Given the description of an element on the screen output the (x, y) to click on. 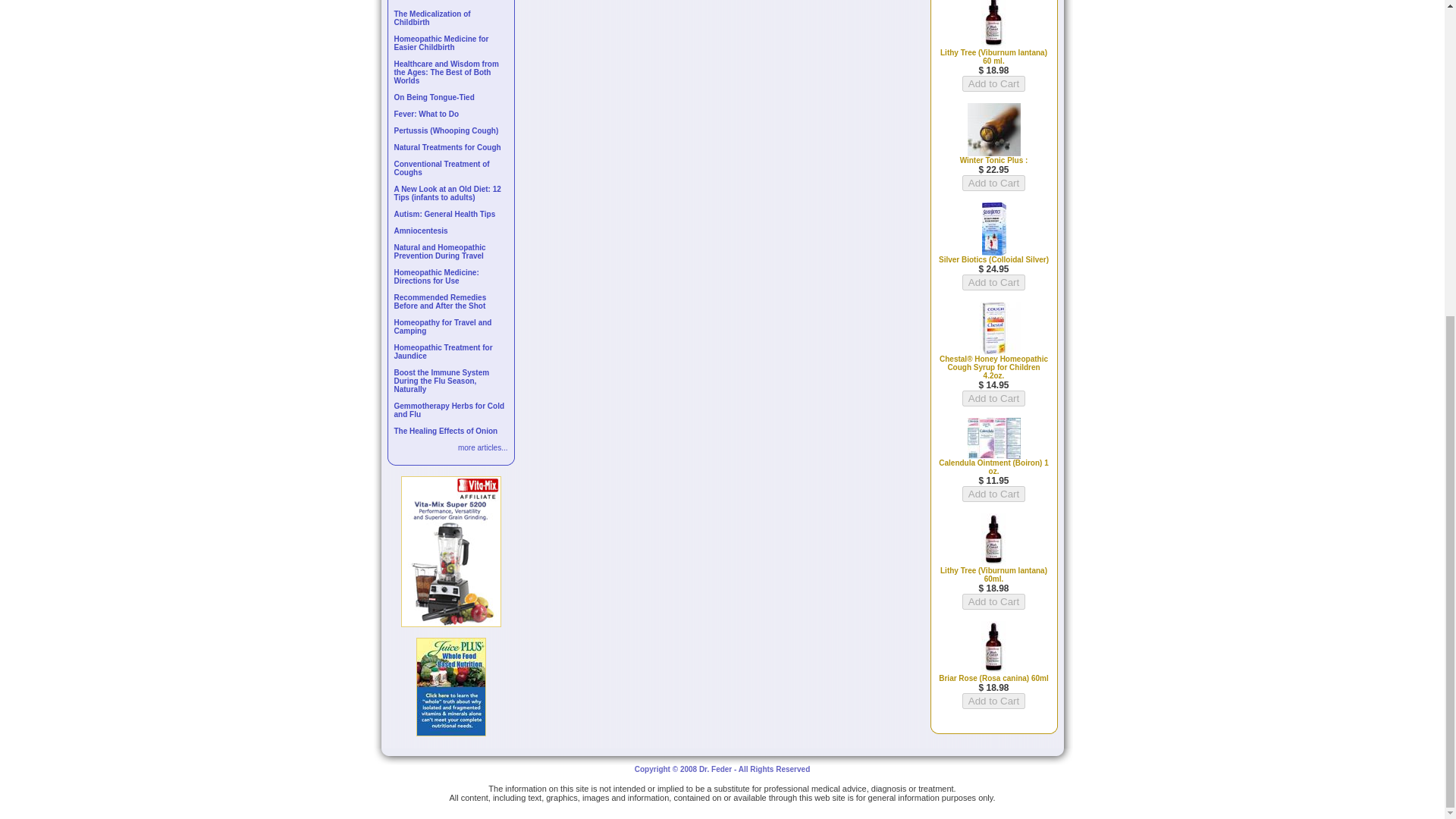
Gemmotherapy Herbs for Cold and Flu (449, 410)
Autism: General Health Tips (445, 213)
Add to Cart (993, 601)
Healthcare and Wisdom from the Ages: The Best of Both Worlds (446, 72)
Fever: What to Do (427, 113)
Add to Cart (993, 700)
Homeopathic Medicine for Easier Childbirth (441, 43)
Add to Cart (993, 282)
Homeopathy for Travel and Camping (443, 326)
Natural Treatments for Cough (447, 147)
The Medicalization of Childbirth (432, 17)
On Being Tongue-Tied (434, 97)
Add to Cart (993, 83)
Conventional Treatment of Coughs (441, 167)
The Healing Effects of Onion (445, 430)
